Given the description of an element on the screen output the (x, y) to click on. 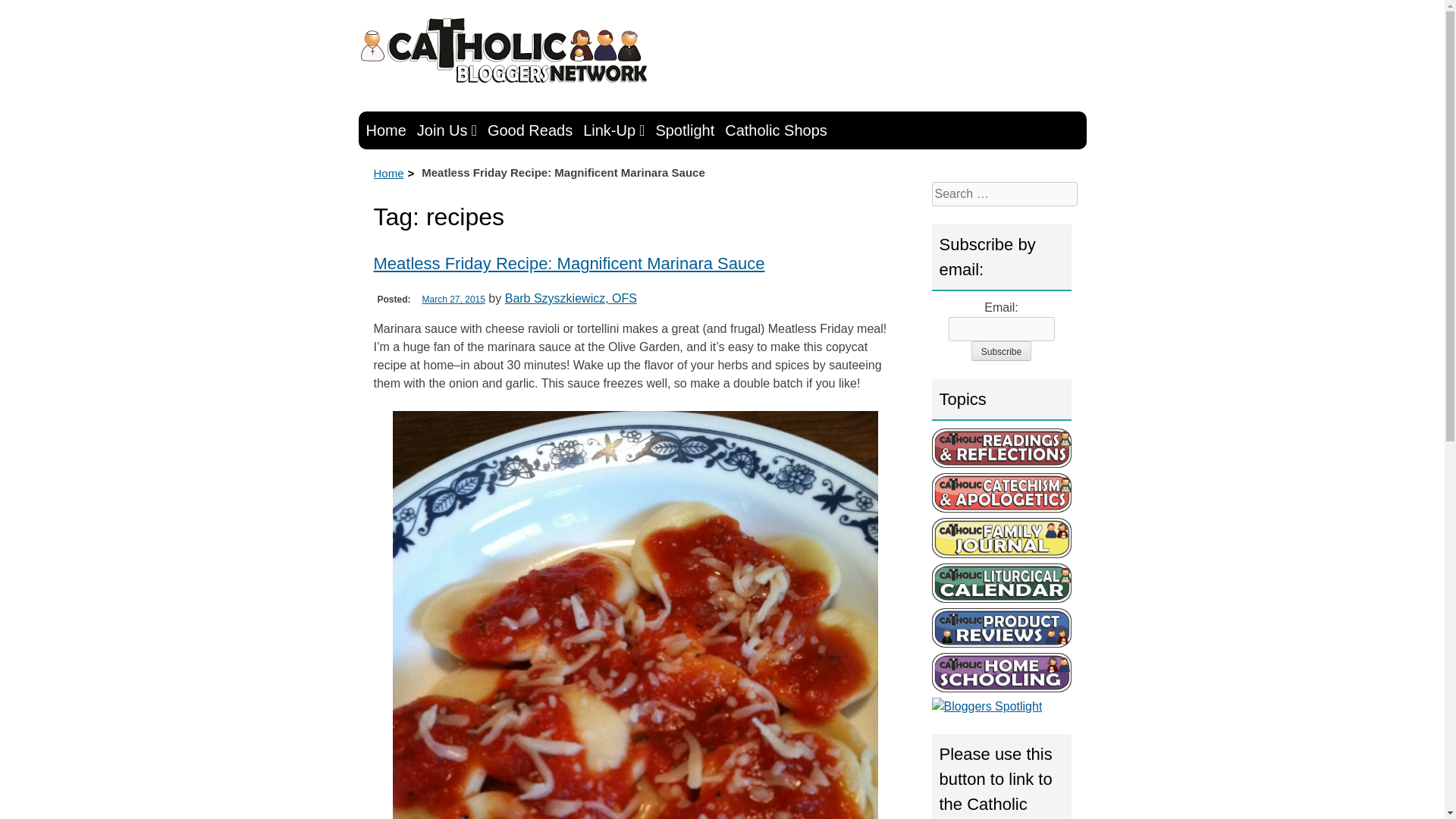
Good Reads (529, 129)
Catholic Shops (776, 129)
Home (387, 173)
Spotlight (684, 129)
Home (385, 129)
Catechism (1000, 492)
Barb Szyszkiewicz, OFS (571, 297)
March 27, 2015 (453, 299)
Subscribe (1000, 351)
Catholic Blogger Network (503, 50)
Join Us (446, 129)
Home Schooling (1000, 672)
Liturgical Calendar (1000, 582)
Subscribe (1000, 351)
Meatless Friday Recipe: Magnificent Marinara Sauce (568, 262)
